Given the description of an element on the screen output the (x, y) to click on. 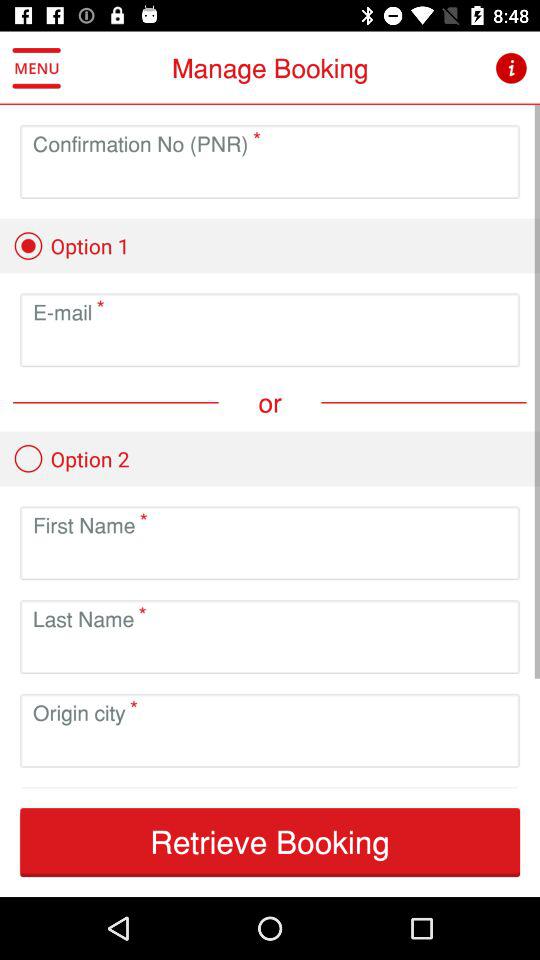
type pnr no (270, 177)
